Given the description of an element on the screen output the (x, y) to click on. 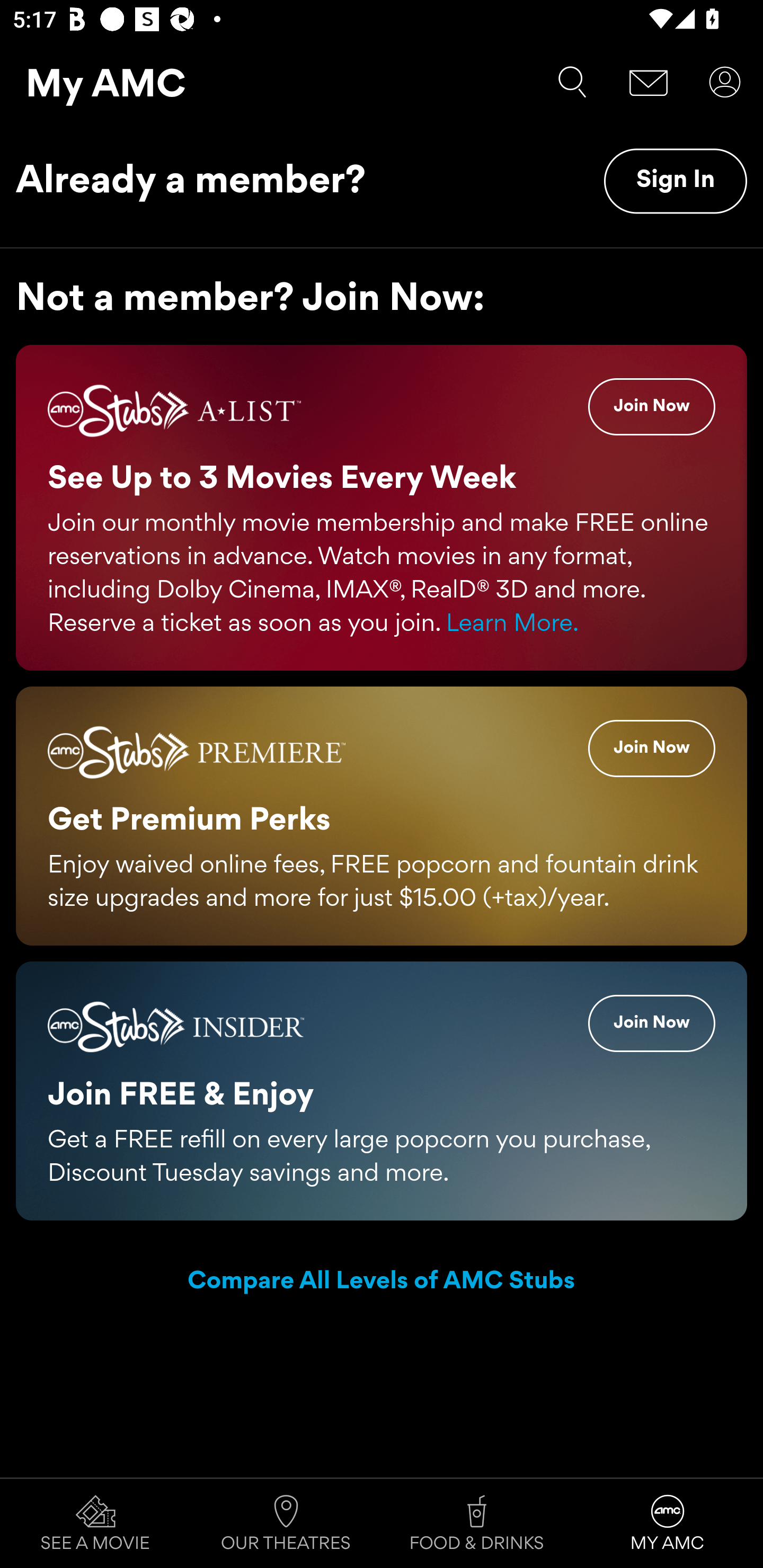
Search (572, 82)
Message Center (648, 82)
User Account (724, 82)
Sign In (675, 180)
A-List Join Now (651, 406)
Premiere Join Now (651, 748)
Insider Join Now (651, 1022)
Compare All Levels of AMC Stubs (381, 1282)
SEE A MOVIE
Tab 1 of 4 (95, 1523)
OUR THEATRES
Tab 2 of 4 (285, 1523)
FOOD & DRINKS
Tab 3 of 4 (476, 1523)
MY AMC
Tab 4 of 4 (667, 1523)
